Given the description of an element on the screen output the (x, y) to click on. 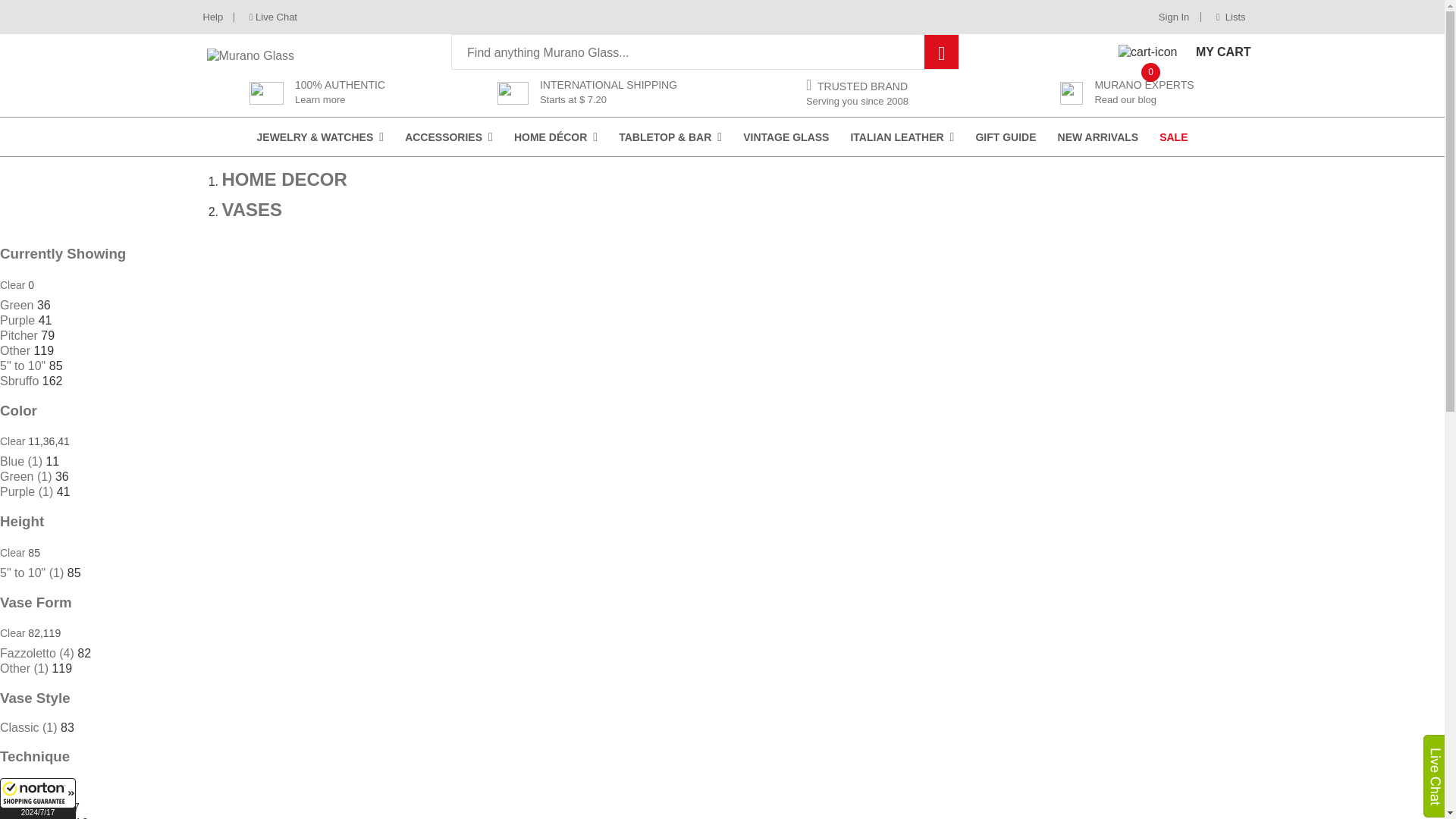
 Live Chat (277, 16)
  Lists (1225, 17)
Unused iFrame 1 (37, 798)
Sign In (1174, 17)
Murano Glass Jewelry (1184, 51)
Help (320, 136)
